Given the description of an element on the screen output the (x, y) to click on. 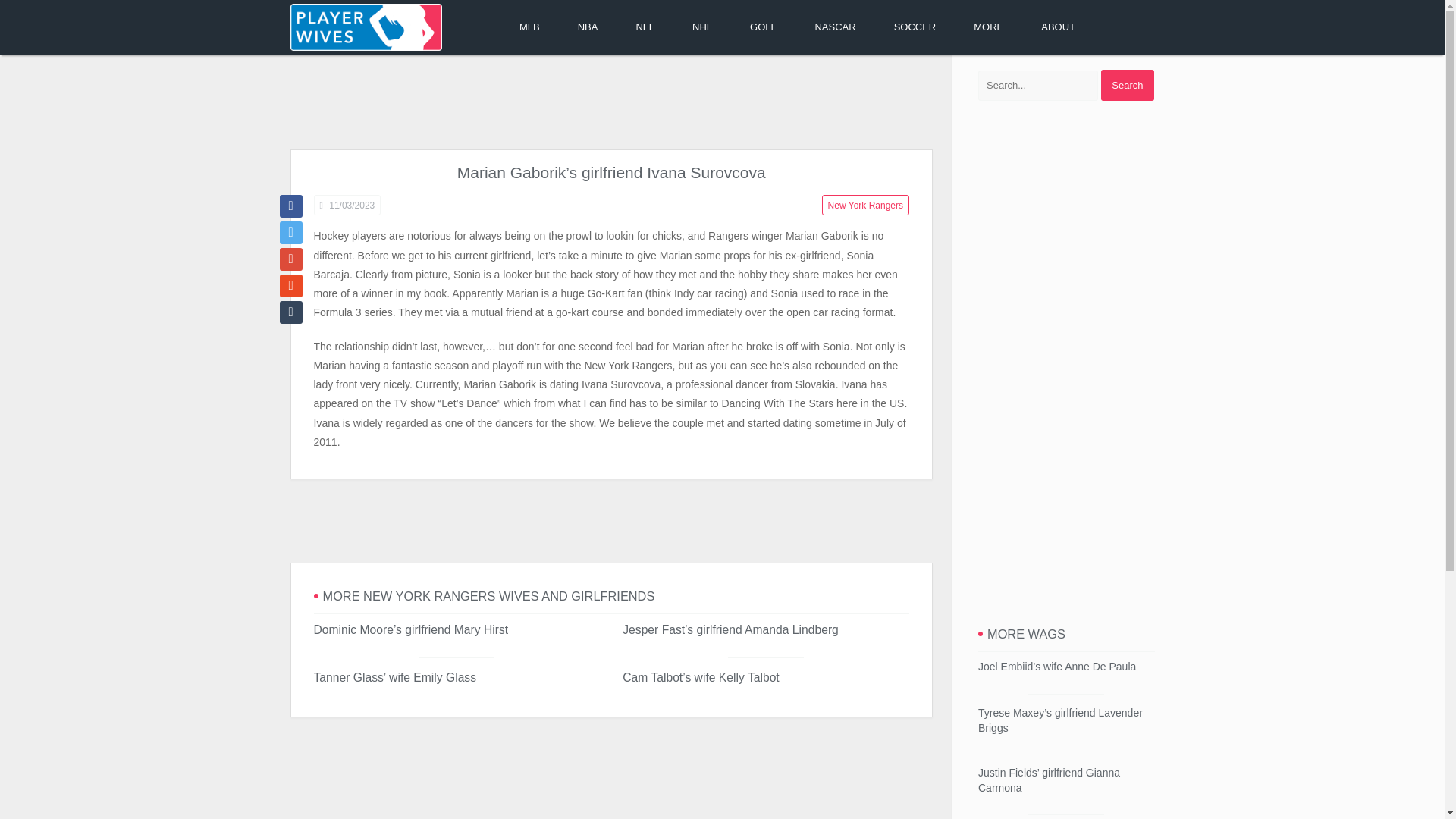
Twitter (290, 232)
GOLF (762, 27)
SOCCER (915, 27)
Facebook (290, 205)
Soccer Wives (915, 27)
MLB Wives (529, 27)
NASCAR Wives (834, 27)
ABOUT (1058, 27)
NFL Wives (643, 27)
Google plus (290, 259)
